Given the description of an element on the screen output the (x, y) to click on. 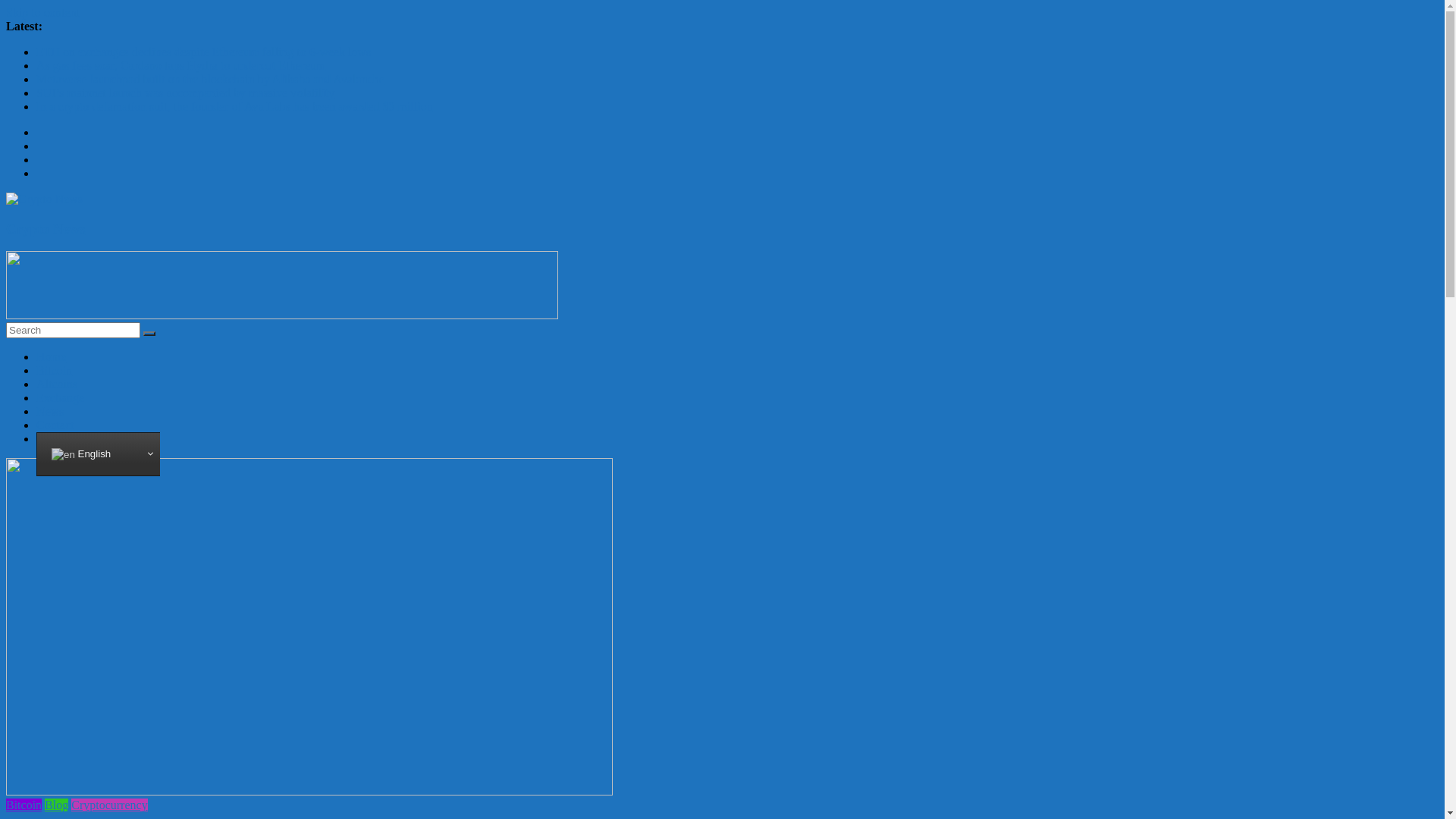
Cryptocurrency Element type: text (109, 804)
Home Element type: text (50, 356)
Skip to content Element type: text (42, 12)
Exchange Element type: text (60, 397)
Bitcoin Element type: text (23, 804)
Blog Element type: text (56, 804)
English Element type: text (108, 454)
News Element type: text (49, 410)
Crypto News Element type: text (45, 228)
Contact Element type: text (55, 424)
Altcoins Element type: text (56, 383)
Bitcoin Element type: text (54, 370)
As gas fees soar, Cardano taps Hydra to undercut Ethereum Element type: text (180, 65)
